Given the description of an element on the screen output the (x, y) to click on. 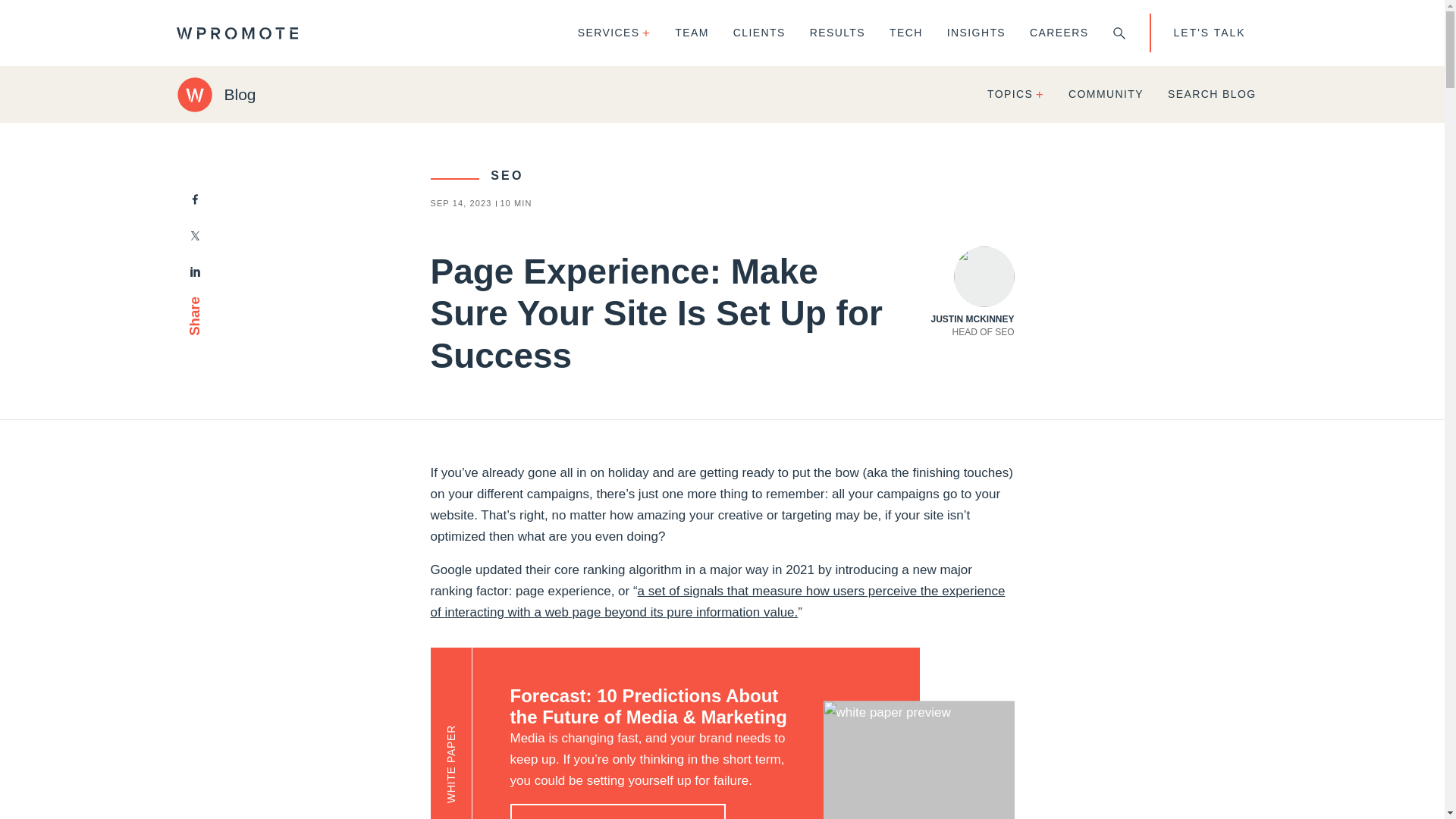
RESULTS (837, 33)
SEO (477, 174)
COMMUNITY (1106, 93)
TECH (905, 33)
TEAM (691, 33)
SEARCH BLOG (1212, 93)
DOWNLOAD WHITE PAPER (617, 811)
INSIGHTS (975, 33)
TOPICS (1016, 93)
LET'S TALK (1209, 32)
SERVICES (971, 292)
CAREERS (614, 33)
CLIENTS (1058, 33)
